Given the description of an element on the screen output the (x, y) to click on. 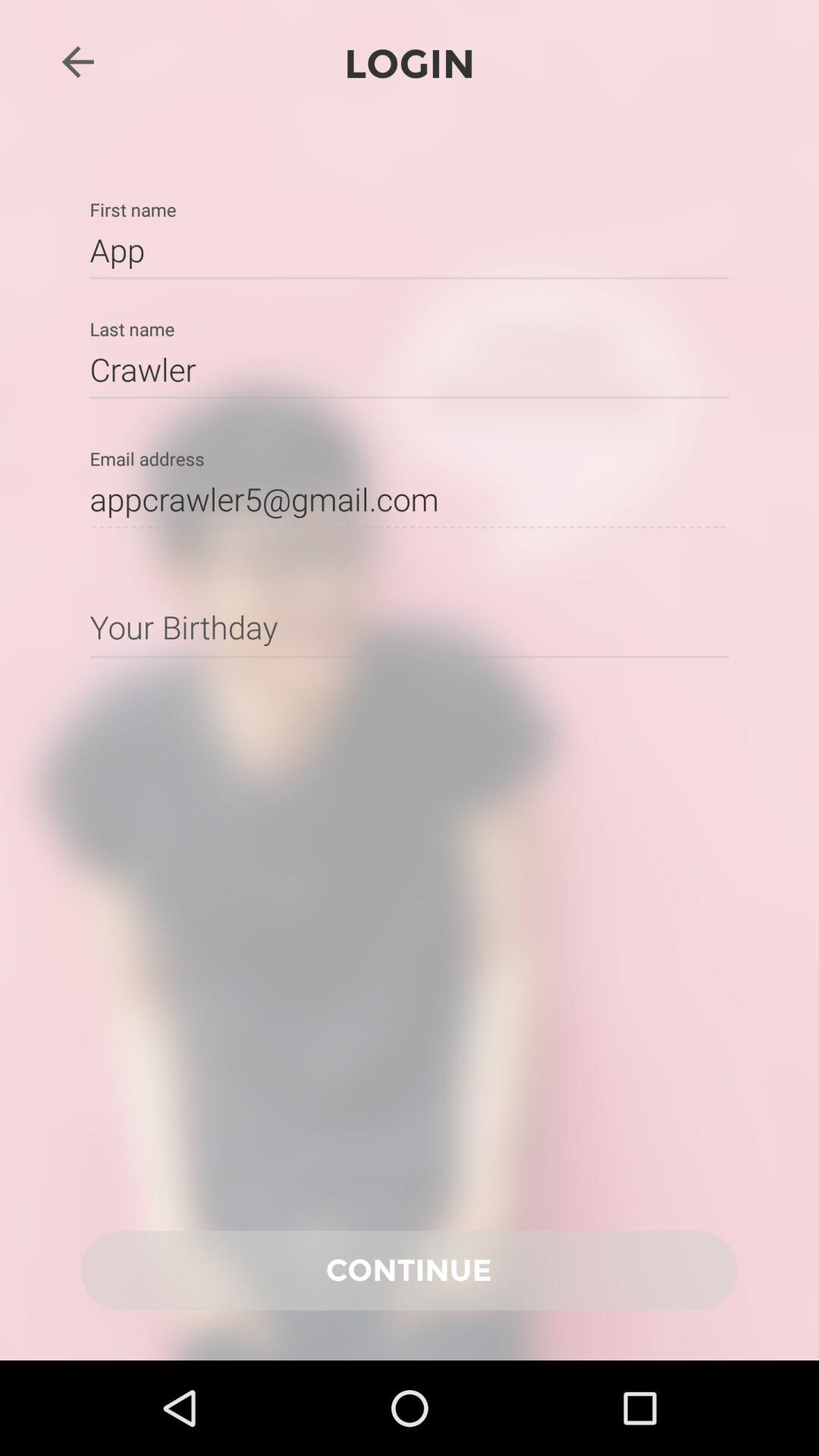
go back (77, 61)
